Given the description of an element on the screen output the (x, y) to click on. 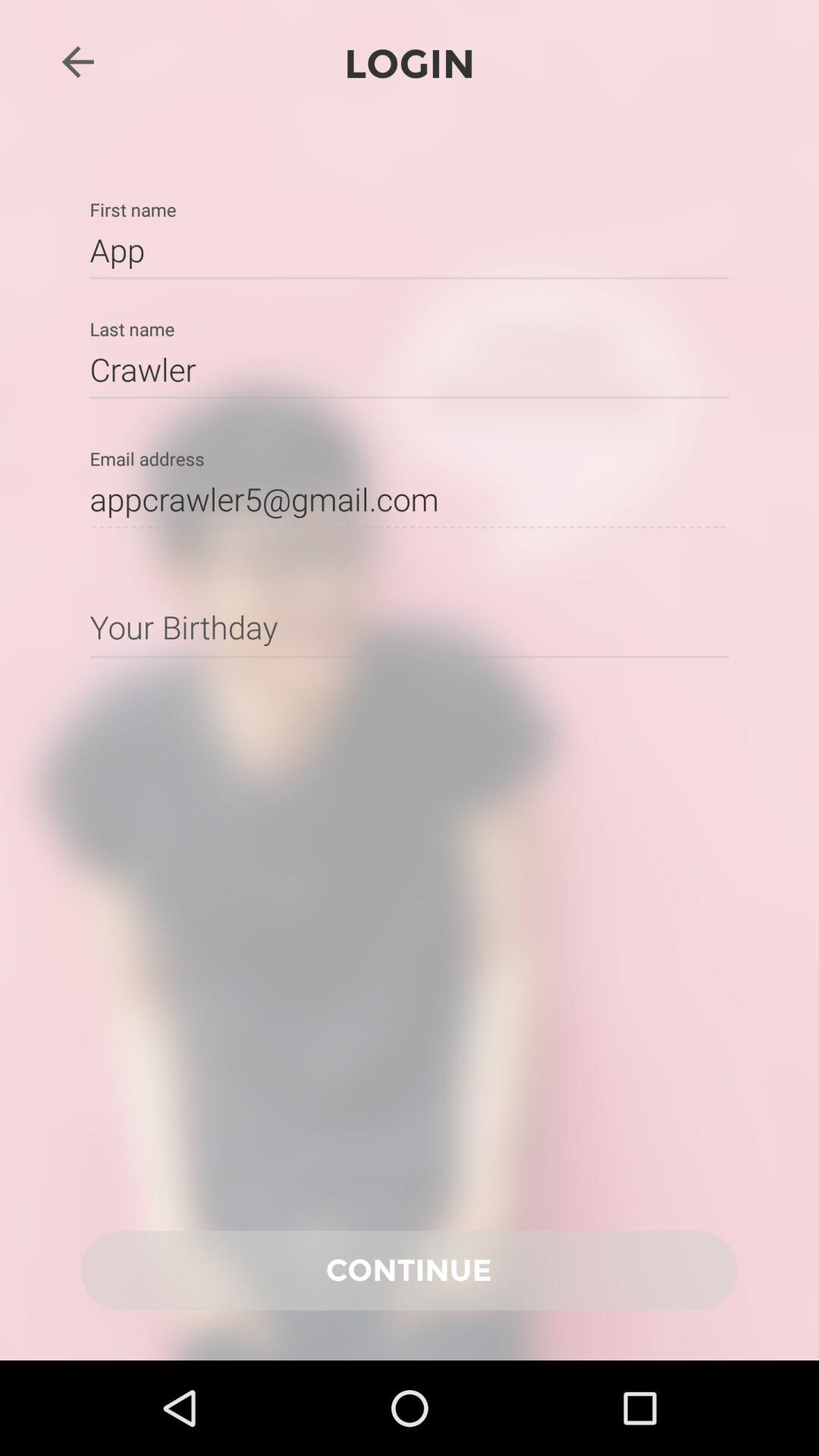
go back (77, 61)
